Given the description of an element on the screen output the (x, y) to click on. 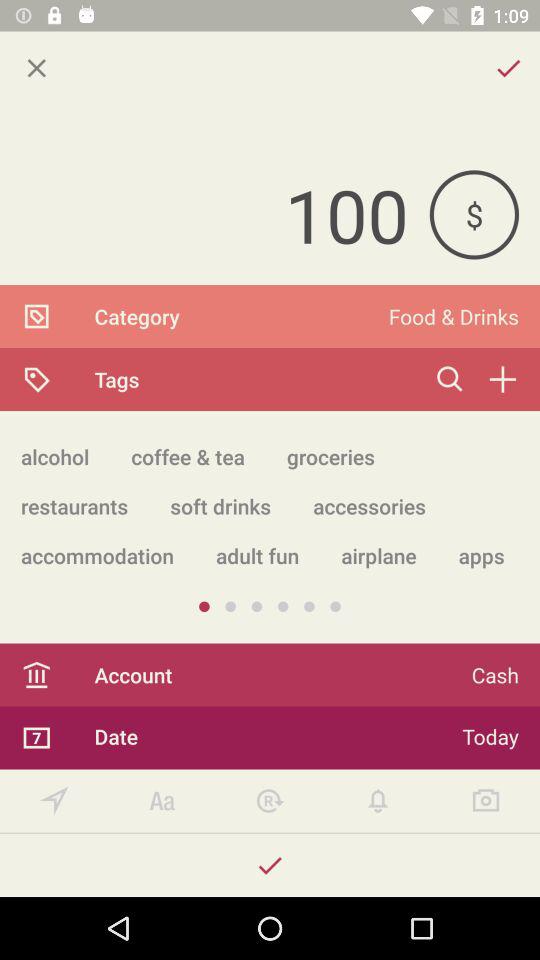
select icon above the accommodation (220, 506)
